Given the description of an element on the screen output the (x, y) to click on. 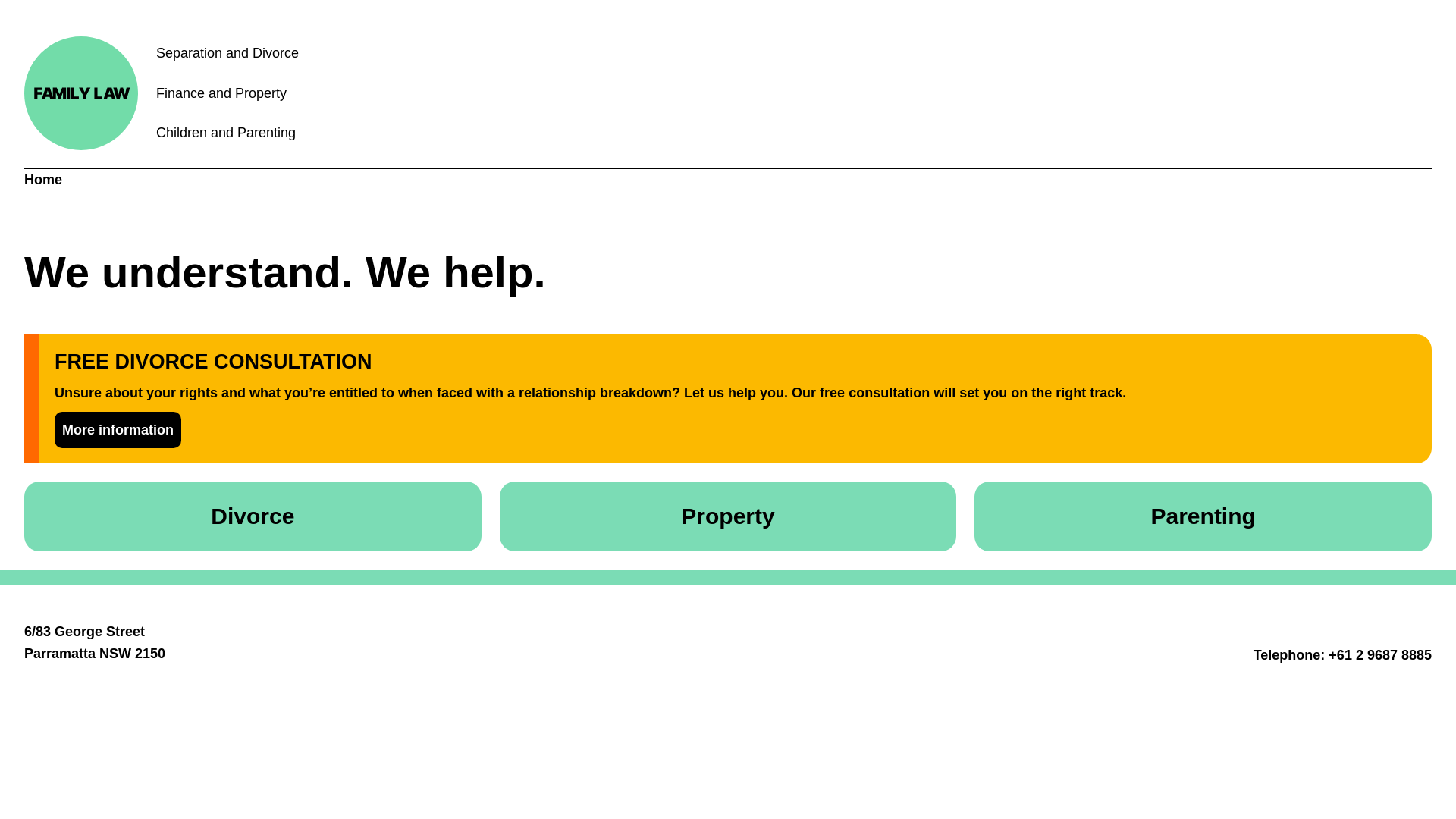
Parenting Element type: text (1202, 516)
More information Element type: text (117, 429)
Property Element type: text (728, 516)
Divorce Element type: text (252, 516)
